Given the description of an element on the screen output the (x, y) to click on. 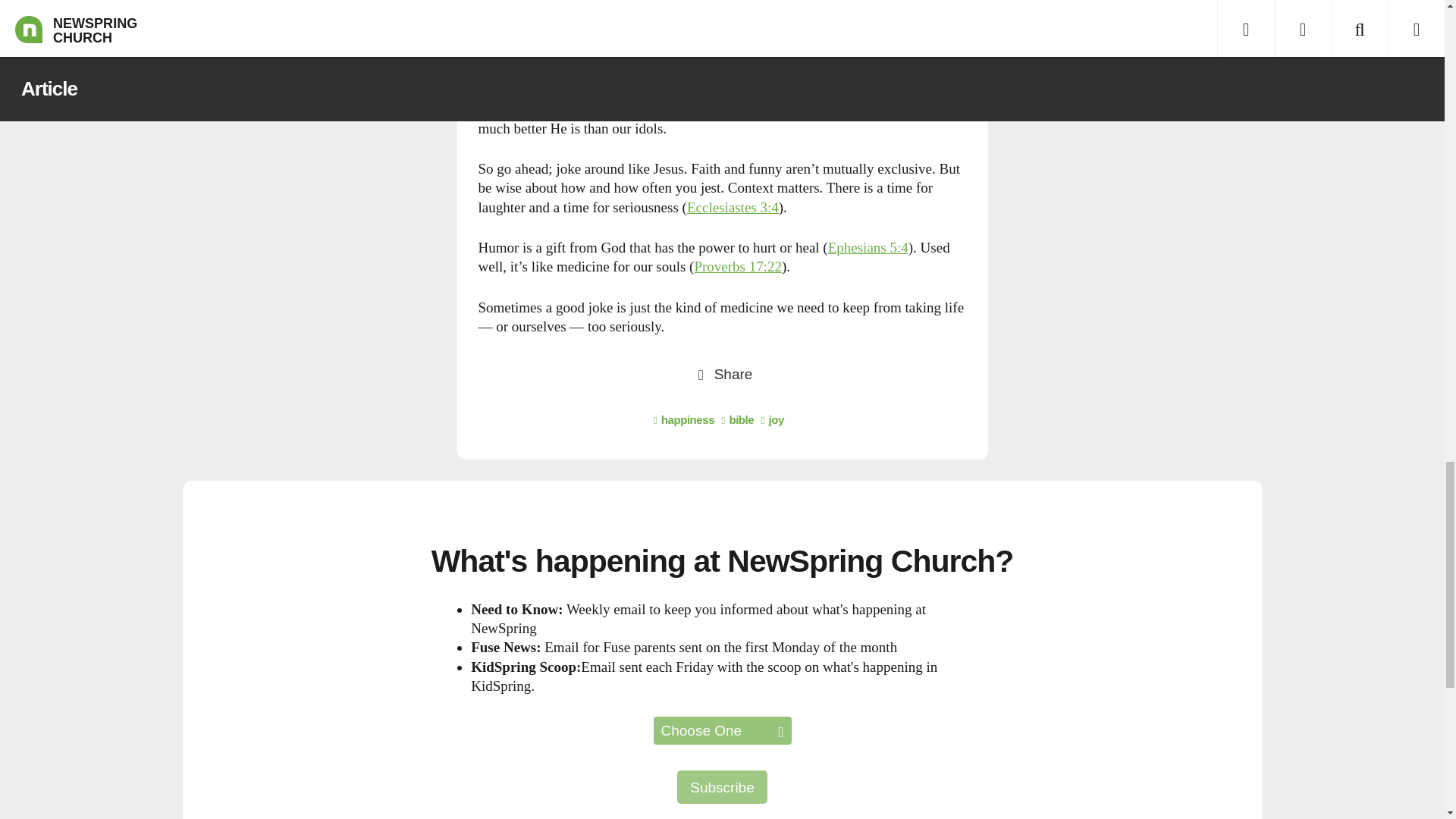
Bible Gateway (737, 266)
Bible Gateway (868, 247)
Bible Gateway (732, 207)
Proverbs 17:22 (737, 266)
Subscribe (722, 786)
Ephesians 5:4 (868, 247)
Ecclesiastes 3:4 (732, 207)
joy (772, 419)
bible (737, 419)
Share (721, 373)
